Given the description of an element on the screen output the (x, y) to click on. 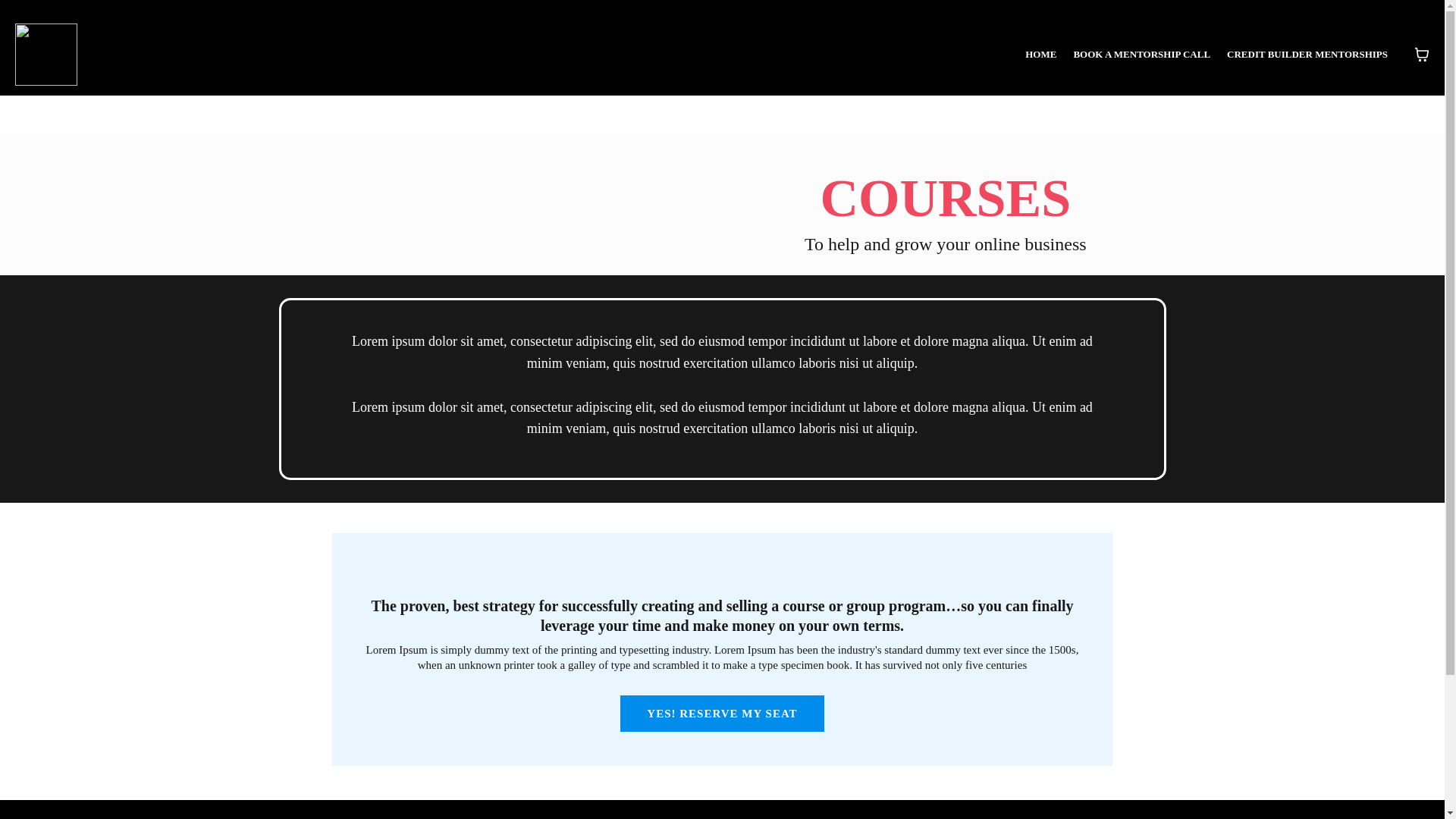
CREDIT BUILDER MENTORSHIPS (1307, 55)
YES! RESERVE MY SEAT (722, 713)
HOME (1040, 55)
BOOK A MENTORSHIP CALL (1141, 55)
